Given the description of an element on the screen output the (x, y) to click on. 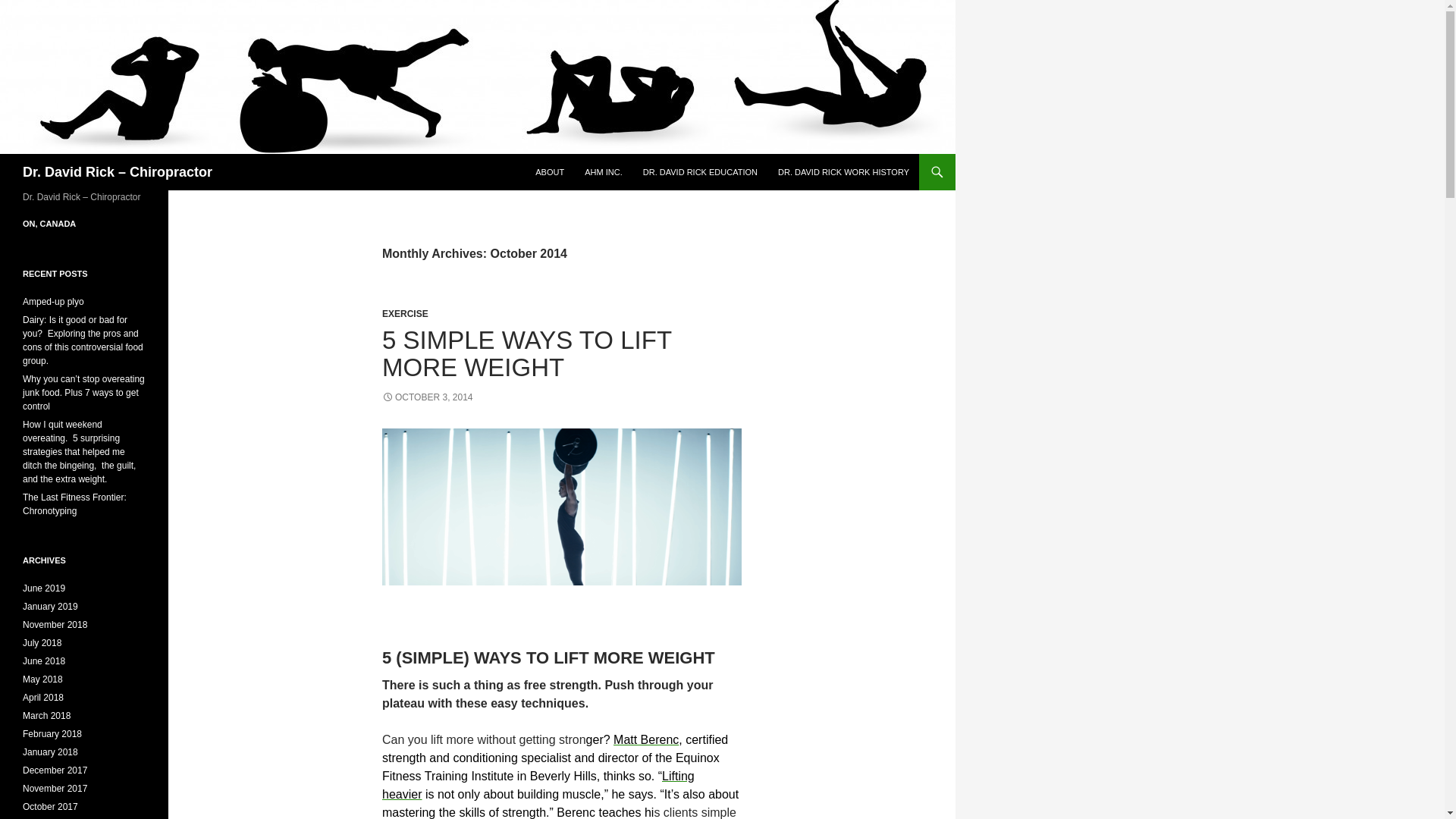
AHM INC. (603, 171)
ABOUT (549, 171)
Lifting heavier (537, 784)
5 SIMPLE WAYS TO LIFT MORE WEIGHT (526, 353)
EXERCISE (404, 313)
OCTOBER 3, 2014 (427, 397)
Matt Berenc (645, 739)
DR. DAVID RICK WORK HISTORY (843, 171)
DR. DAVID RICK EDUCATION (700, 171)
